Given the description of an element on the screen output the (x, y) to click on. 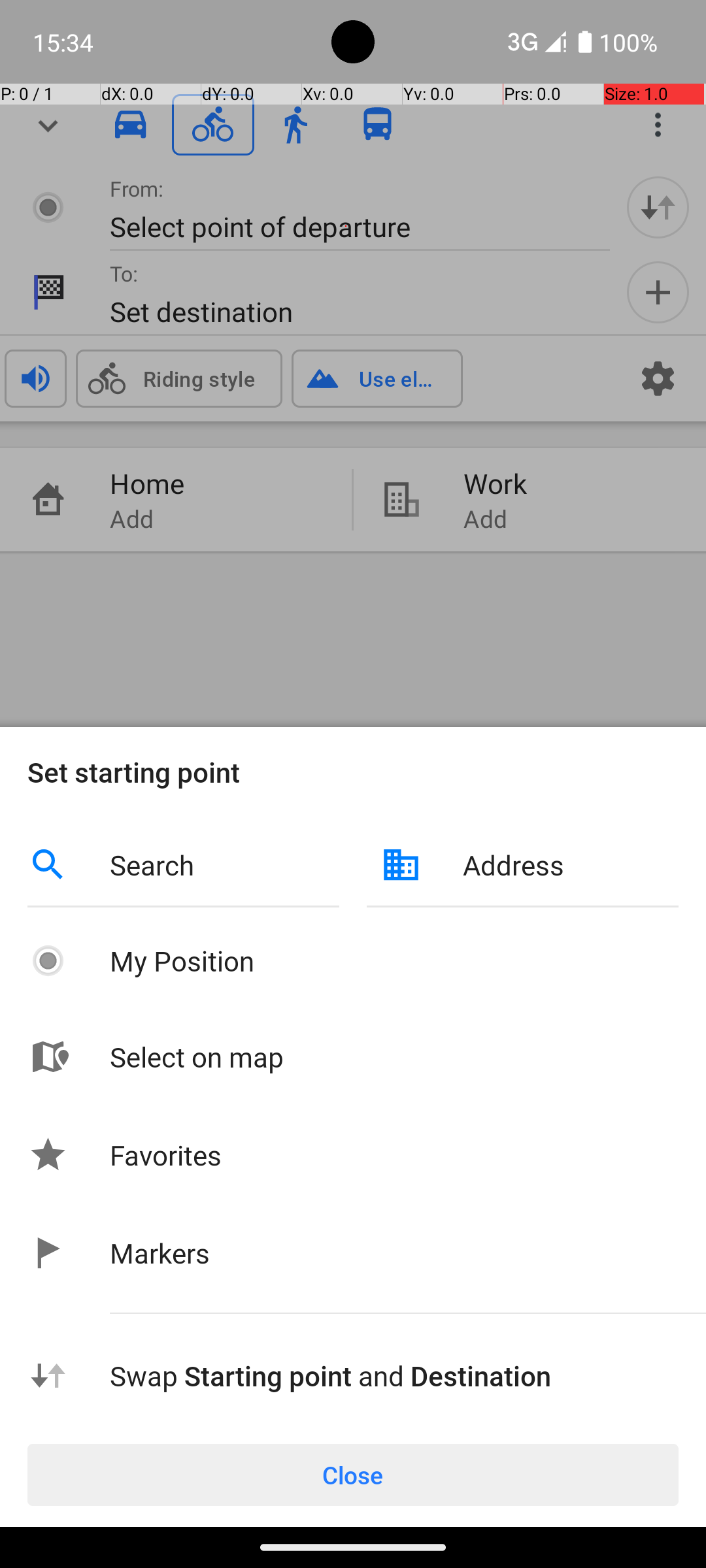
Close the dialog Element type: android.view.View (353, 392)
Set starting point Element type: android.widget.TextView (353, 771)
Address Element type: android.widget.TextView (570, 864)
My Position Element type: android.widget.TextView (393, 960)
Select on map Element type: android.widget.TextView (393, 1056)
Swap Starting point and Destination Element type: android.widget.TextView (393, 1375)
Favorites Element type: android.widget.TextView (165, 1154)
Markers Element type: android.widget.TextView (159, 1252)
